Given the description of an element on the screen output the (x, y) to click on. 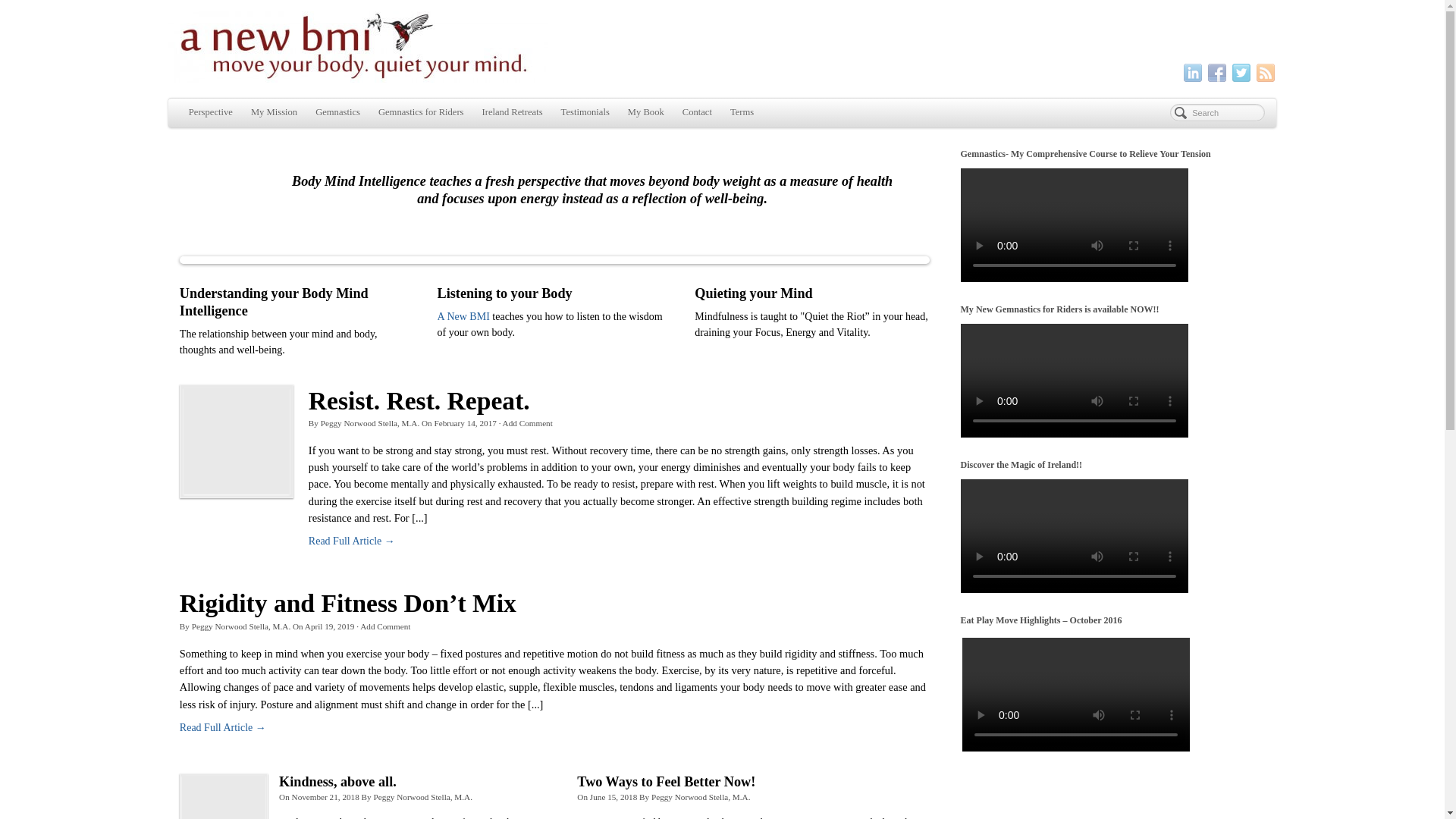
Gemnastics (337, 112)
Offerings (463, 316)
Peggy Norwood Stella, M.A. (370, 422)
Resist. Rest. Repeat. (418, 400)
A New BMI (463, 316)
Kindness, above all. (337, 781)
Resist. Rest. Repeat. (418, 400)
Add Comment (527, 422)
Testimonials (584, 112)
Two Ways to Feel Better Now! (665, 781)
Posts by Peggy Norwood Stella, M.A. (421, 796)
Link To Kindness, above all. (223, 796)
terms (741, 112)
My Book (645, 112)
Peggy Norwood Stella, M.A. (241, 625)
